Given the description of an element on the screen output the (x, y) to click on. 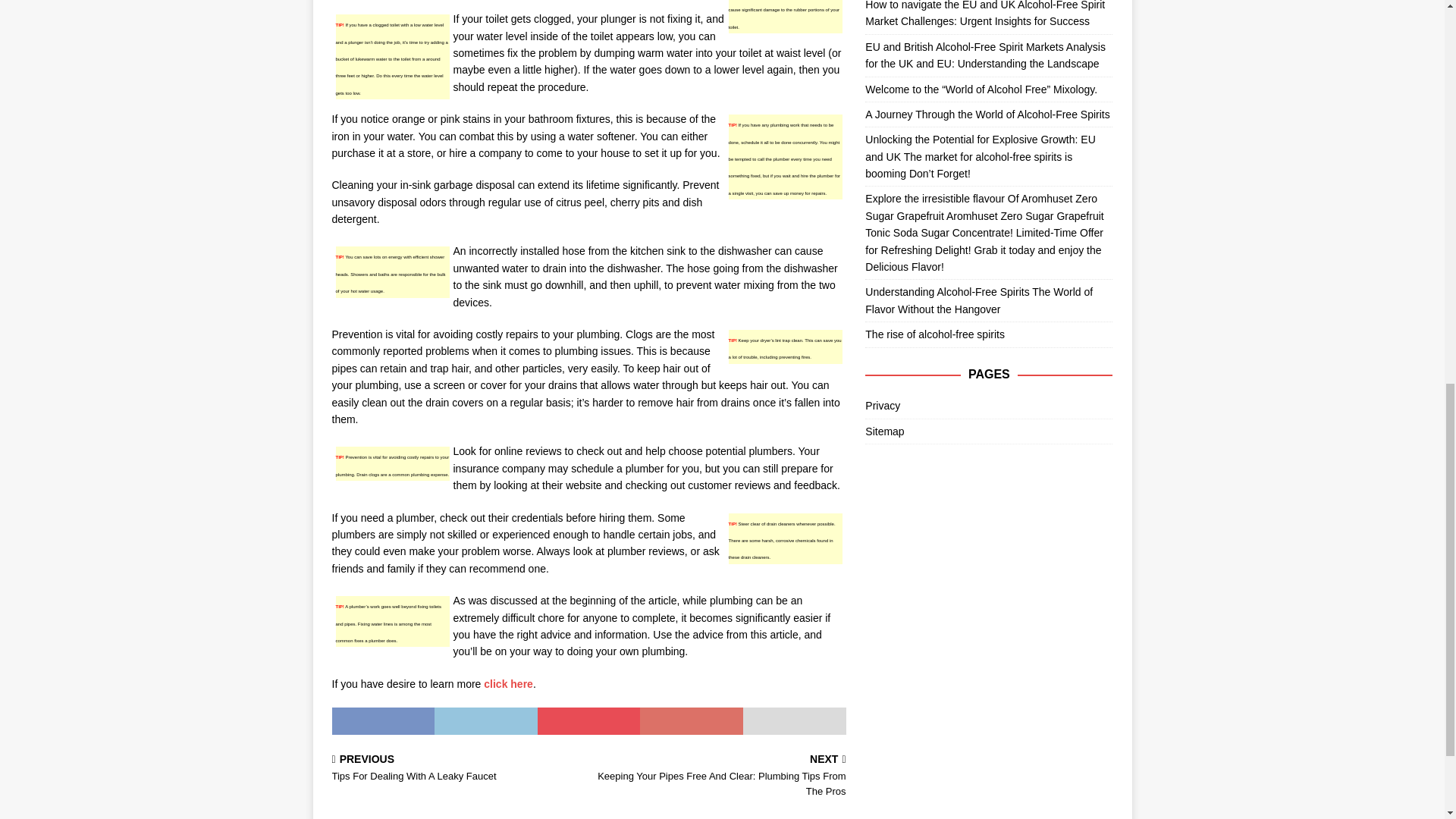
click here (457, 768)
